Given the description of an element on the screen output the (x, y) to click on. 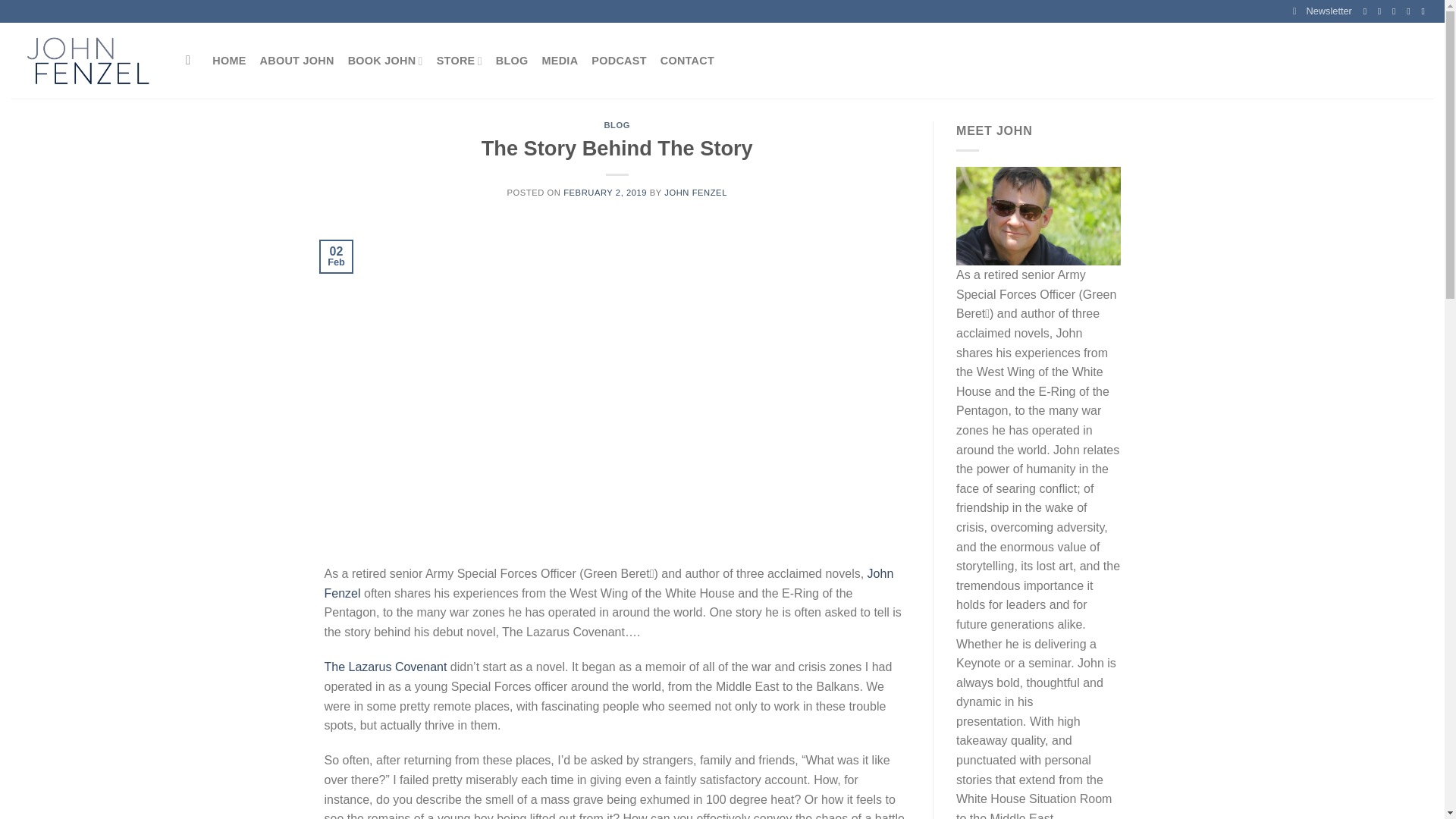
Sign up for Newsletter (1322, 11)
John Fenzel (608, 583)
MEDIA (559, 60)
PODCAST (618, 60)
BOOK JOHN (385, 60)
BLOG (617, 124)
BLOG (512, 60)
John Fenzel - Speaker (87, 60)
FEBRUARY 2, 2019 (604, 192)
HOME (229, 60)
STORE (458, 60)
CONTACT (687, 60)
Newsletter (1322, 11)
JOHN FENZEL (694, 192)
The Lazarus Covenant (385, 666)
